Given the description of an element on the screen output the (x, y) to click on. 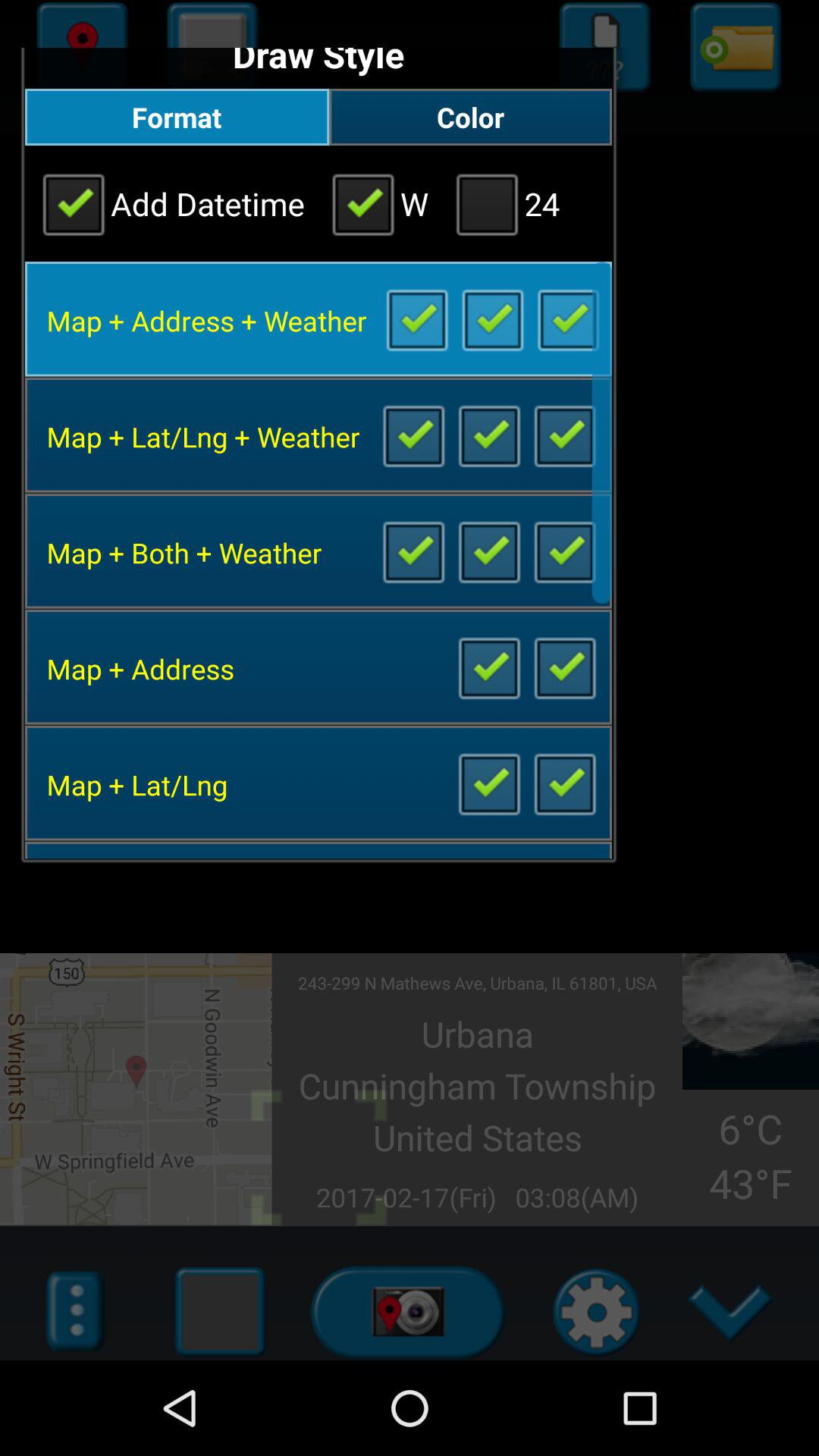
go to map and weather toggle (488, 550)
